Given the description of an element on the screen output the (x, y) to click on. 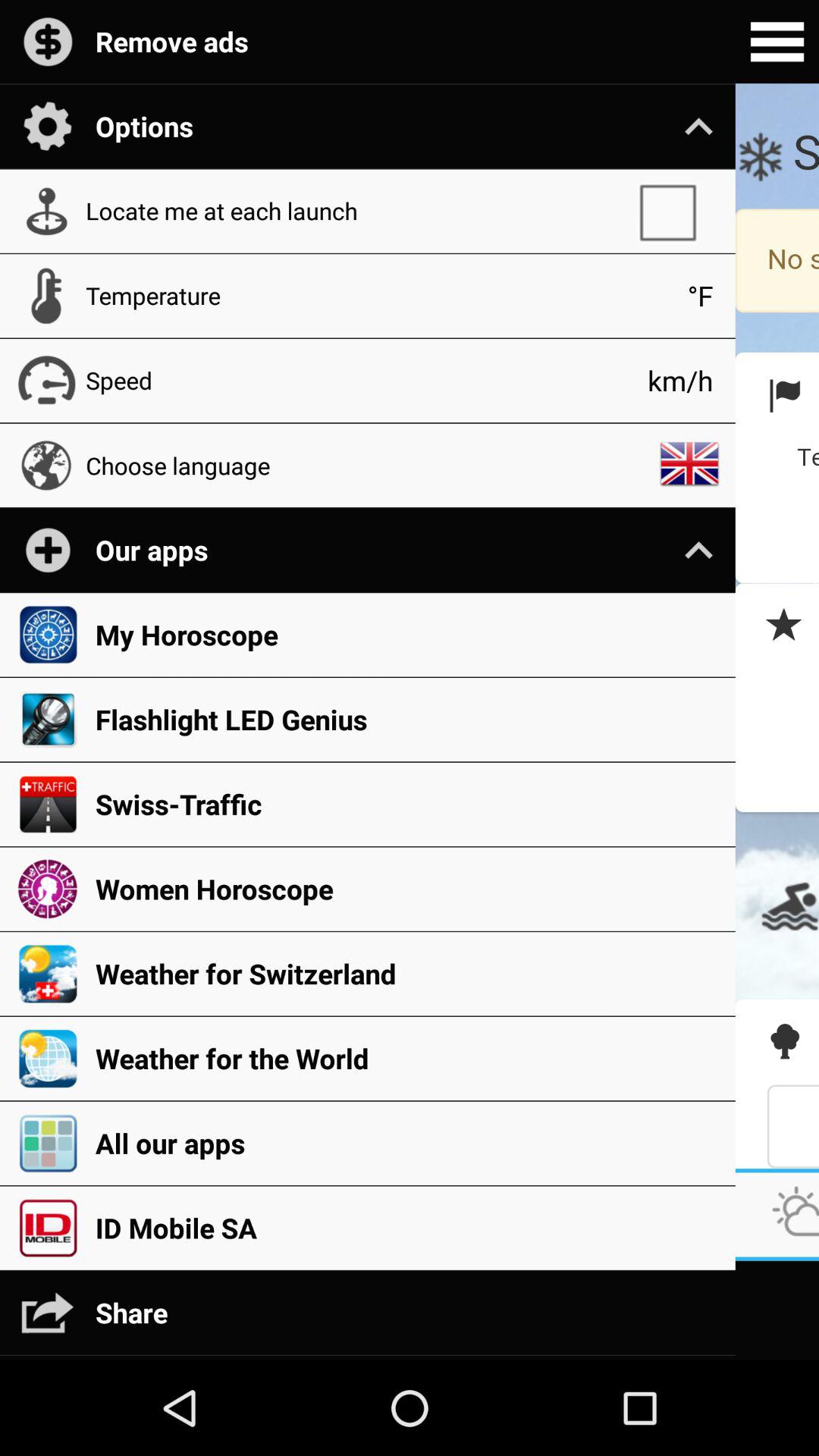
turn on icon next to the remove ads item (777, 41)
